Given the description of an element on the screen output the (x, y) to click on. 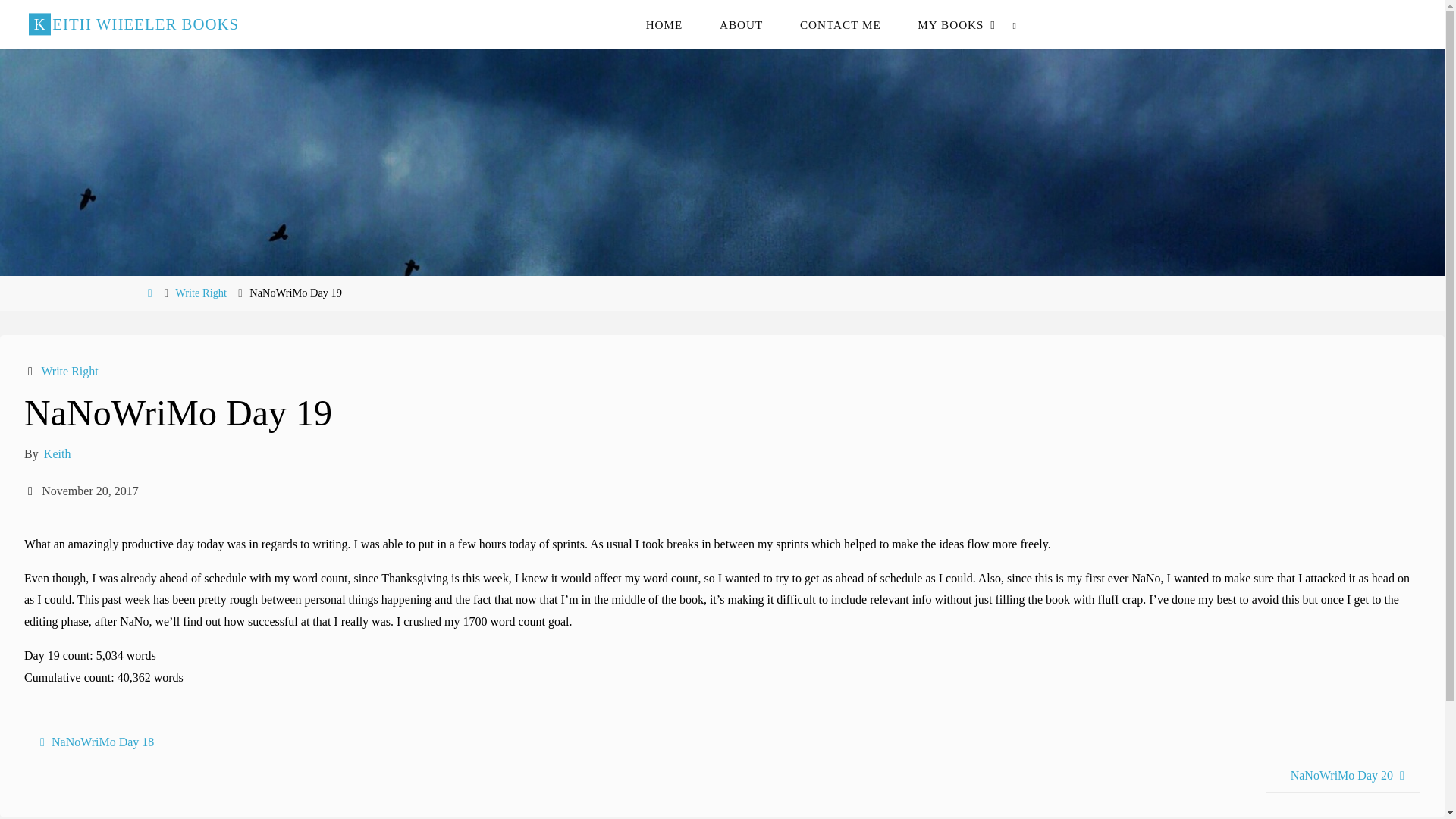
Write Right (69, 370)
NaNoWriMo Day 20 (1343, 776)
KEITH WHEELER BOOKS (133, 24)
NaNoWriMo Day 18 (100, 742)
Date (31, 490)
HOME (663, 24)
Keith (56, 453)
CONTACT ME (840, 24)
Write Right (200, 292)
Categories (31, 370)
ABOUT (741, 24)
View all posts by Keith (56, 453)
MY BOOKS (951, 24)
Making a difference, one book at a time! (133, 24)
